Given the description of an element on the screen output the (x, y) to click on. 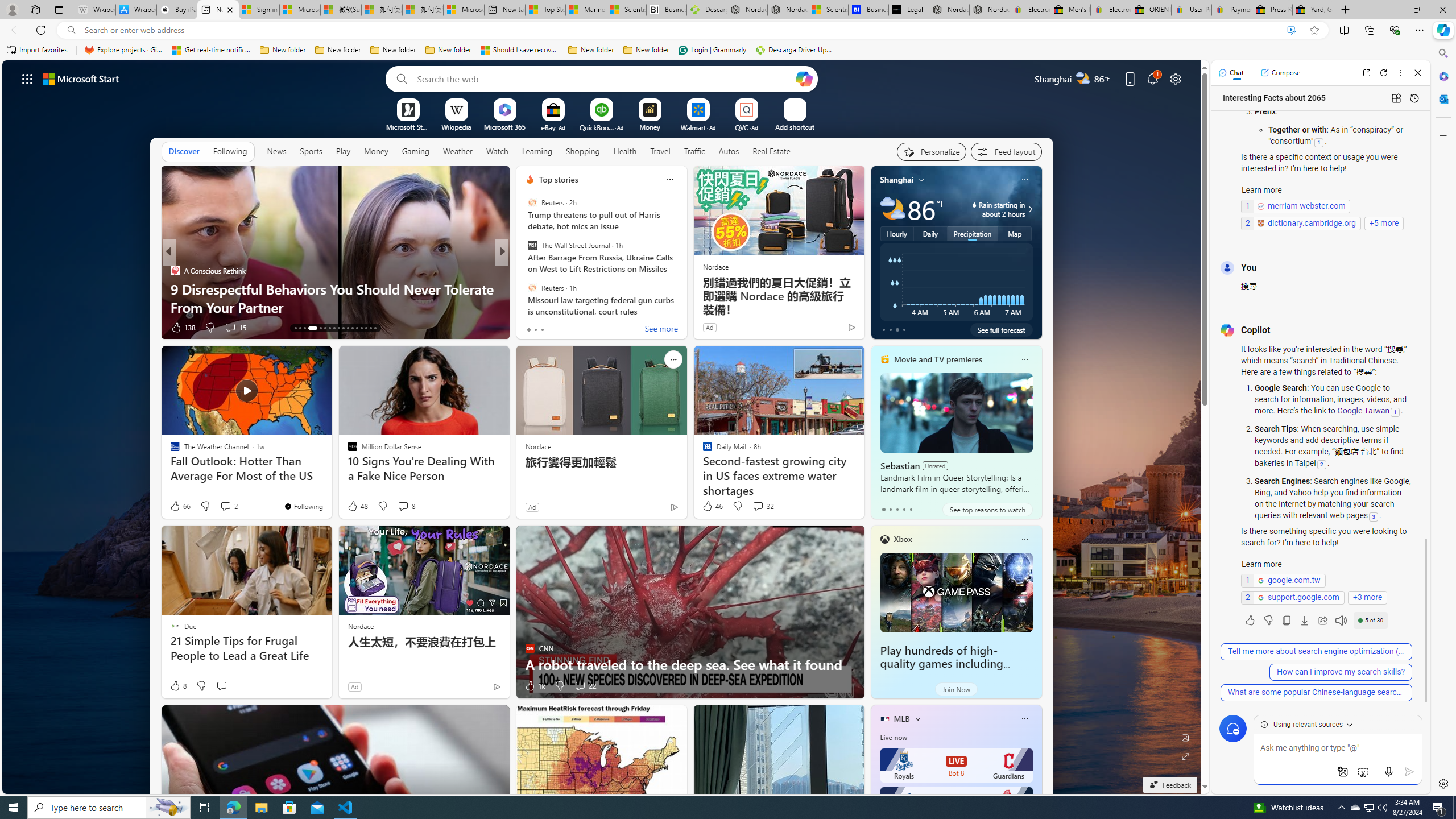
tab-1 (889, 509)
516 Like (532, 327)
1k Like (533, 685)
